Given the description of an element on the screen output the (x, y) to click on. 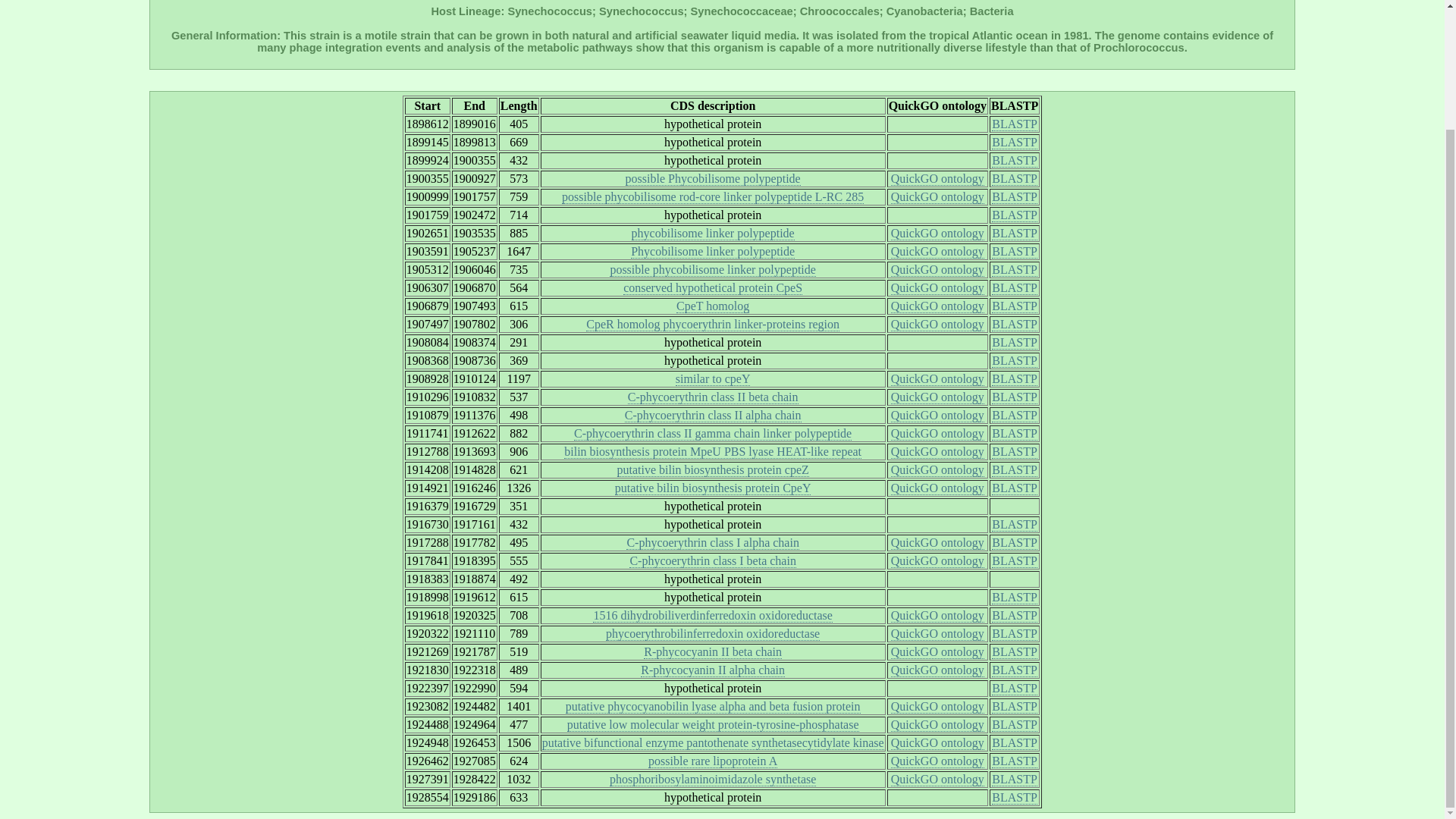
QuickGO ontology (937, 251)
BLASTP (1013, 305)
BLASTP (1013, 196)
phycobilisome linker polypeptide (712, 233)
QuickGO ontology (937, 233)
Display BLASTP hits for this cds (1013, 142)
Retrieve QuickGO gene ontology (937, 233)
Retrieve QuickGO gene ontology (937, 178)
BLASTP (1013, 124)
Display BLASTP hits for this cds (1013, 178)
BLASTP (1013, 287)
Search database for similar gene annotations (712, 251)
CpeR homolog phycoerythrin linker-proteins region (713, 324)
conserved hypothetical protein CpeS (712, 287)
possible Phycobilisome polypeptide (713, 178)
